Given the description of an element on the screen output the (x, y) to click on. 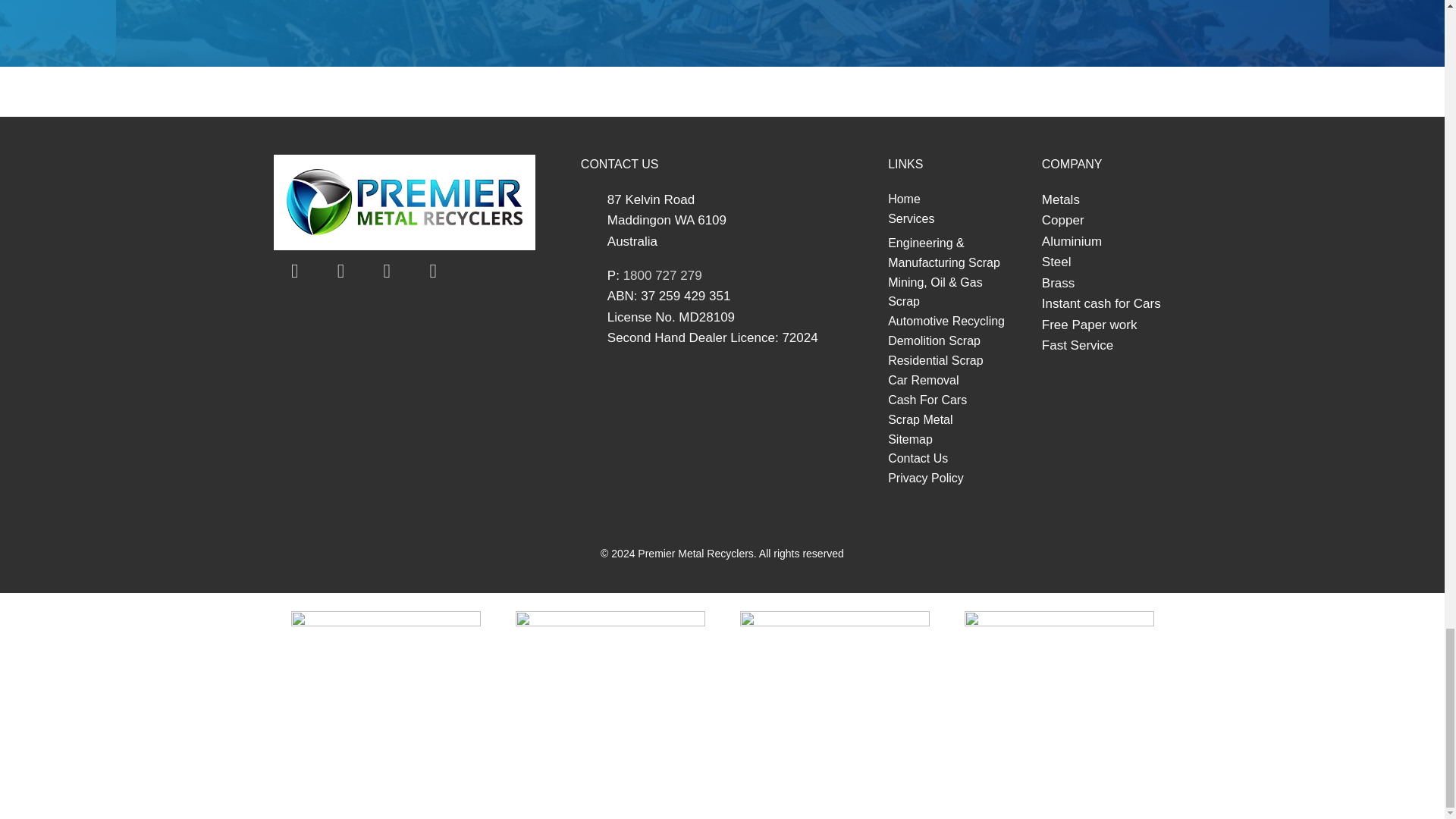
Facebook (294, 271)
Twitter (340, 271)
Instagram (432, 271)
linkedin (386, 271)
